Given the description of an element on the screen output the (x, y) to click on. 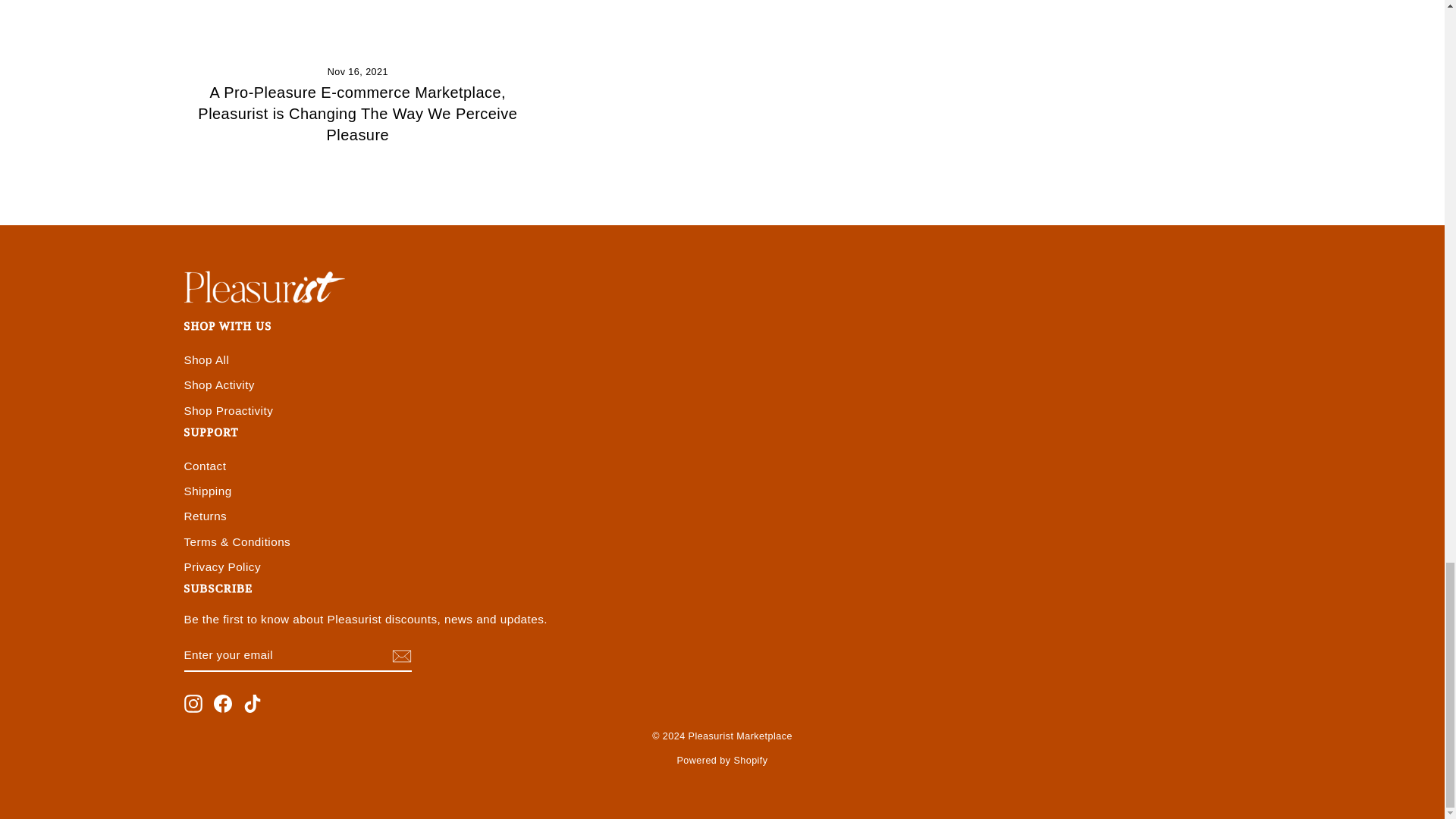
Pleasurist Marketplace on TikTok (251, 703)
Pleasurist Marketplace on Facebook (222, 703)
Pleasurist Marketplace on Instagram (192, 703)
